Given the description of an element on the screen output the (x, y) to click on. 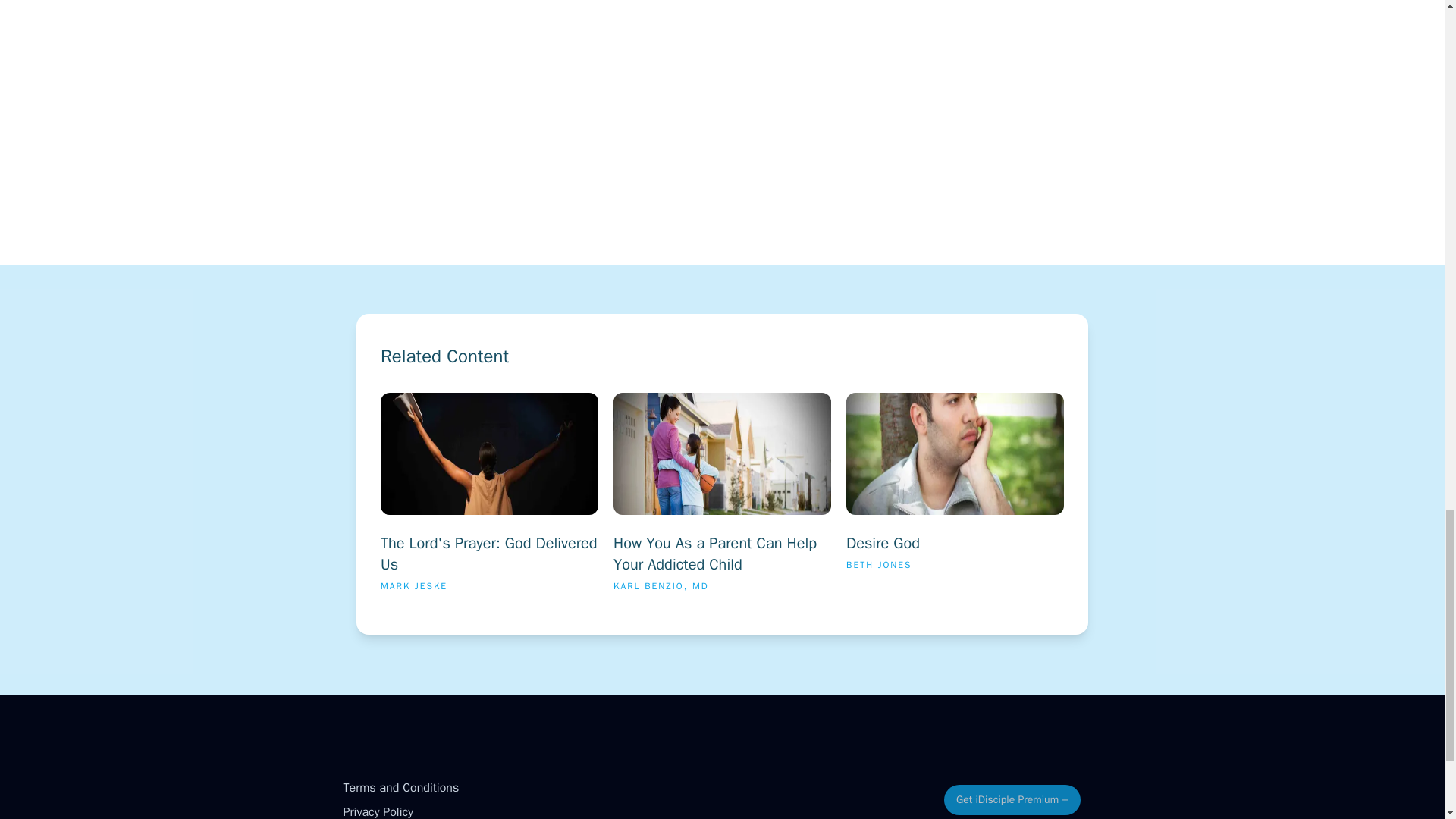
Privacy Policy (377, 811)
Terms and Conditions (954, 498)
